Given the description of an element on the screen output the (x, y) to click on. 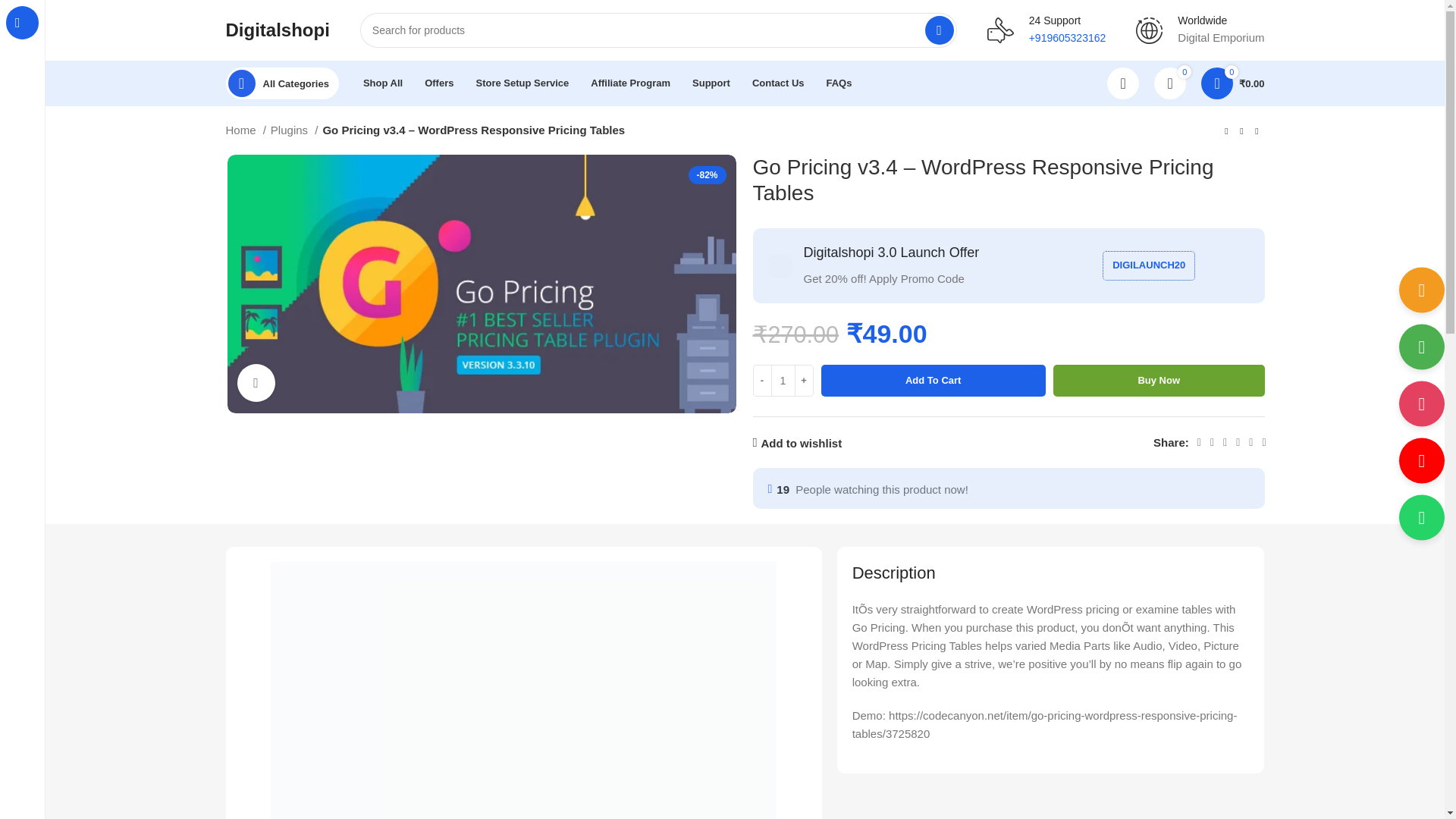
FAQs (838, 82)
Contact Us (777, 82)
My account (1123, 82)
Digitalshopi (277, 29)
Search (938, 30)
Plugins (294, 130)
0 (1170, 82)
Shop All (382, 82)
Offers (438, 82)
All Categories (282, 82)
